Given the description of an element on the screen output the (x, y) to click on. 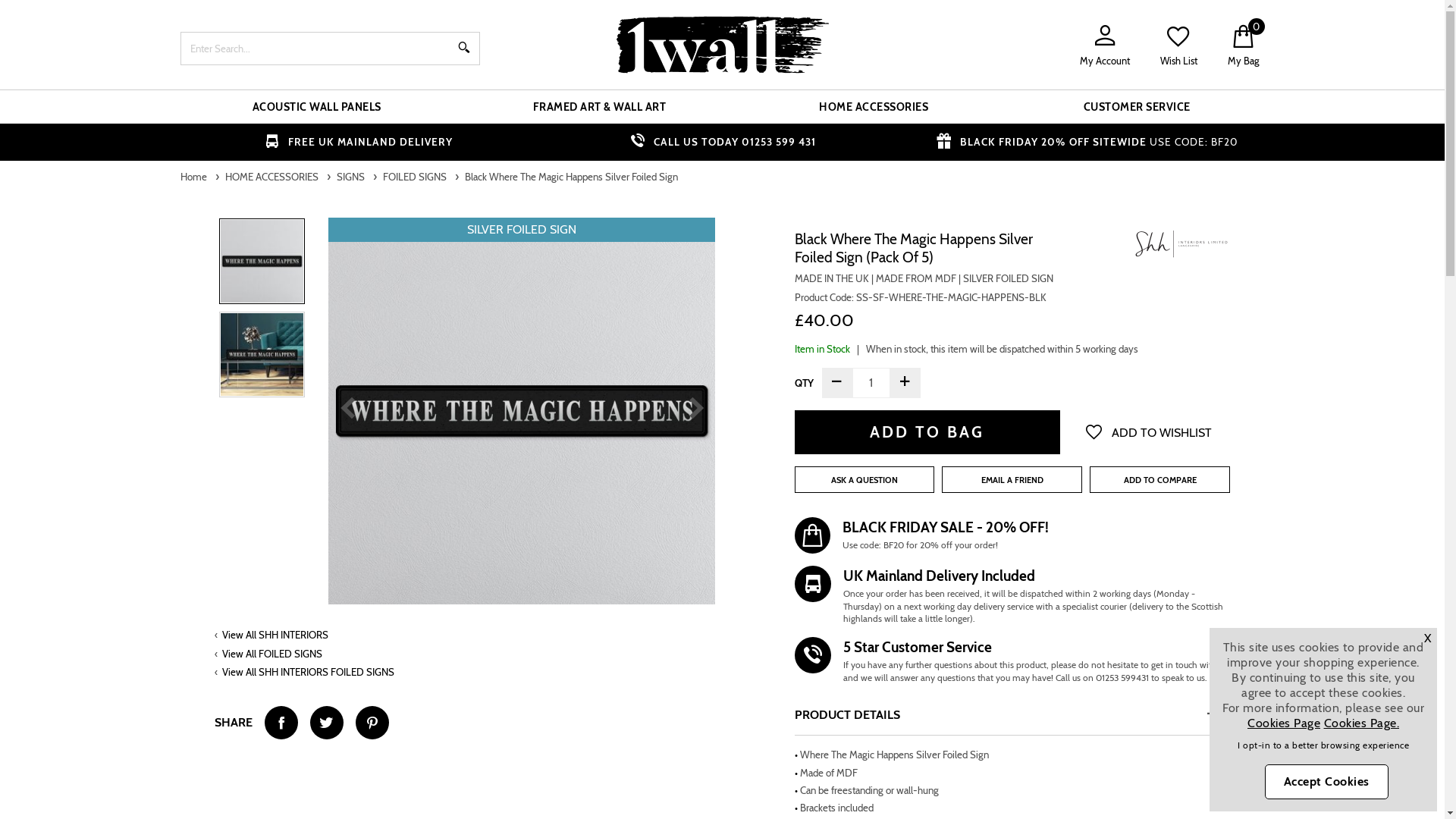
ADD TO COMPARE Element type: text (1159, 479)
Cookies Page. Element type: text (1361, 722)
My Account Element type: text (1104, 45)
CUSTOMER SERVICE Element type: text (1136, 106)
HOME ACCESSORIES Element type: text (272, 176)
Share On Facebook Element type: hover (280, 722)
0
My Bag Element type: text (1242, 45)
FOILED SIGNS Element type: text (415, 176)
View All FOILED SIGNS Element type: text (272, 653)
ADD TO WISHLIST Element type: text (1148, 431)
HOME ACCESSORIES Element type: text (873, 106)
ASK A QUESTION Element type: text (864, 479)
EMAIL A FRIEND Element type: text (1011, 479)
1wall Element type: hover (722, 44)
ADD TO BAG Element type: text (927, 432)
Share On Twitter Element type: hover (325, 722)
SIGNS Element type: text (351, 176)
Cookies Page Element type: text (1283, 722)
Home Element type: text (194, 176)
ACOUSTIC WALL PANELS Element type: text (315, 106)
Accept Cookies Element type: text (1325, 781)
PRODUCT DETAILS Element type: text (1012, 714)
FRAMED ART & WALL ART Element type: text (599, 106)
Share On Pinterest Element type: hover (371, 722)
Wish List Element type: text (1178, 45)
X Element type: text (1427, 637)
View All SHH INTERIORS FOILED SIGNS Element type: text (308, 671)
View All SHH INTERIORS Element type: text (275, 634)
